Given the description of an element on the screen output the (x, y) to click on. 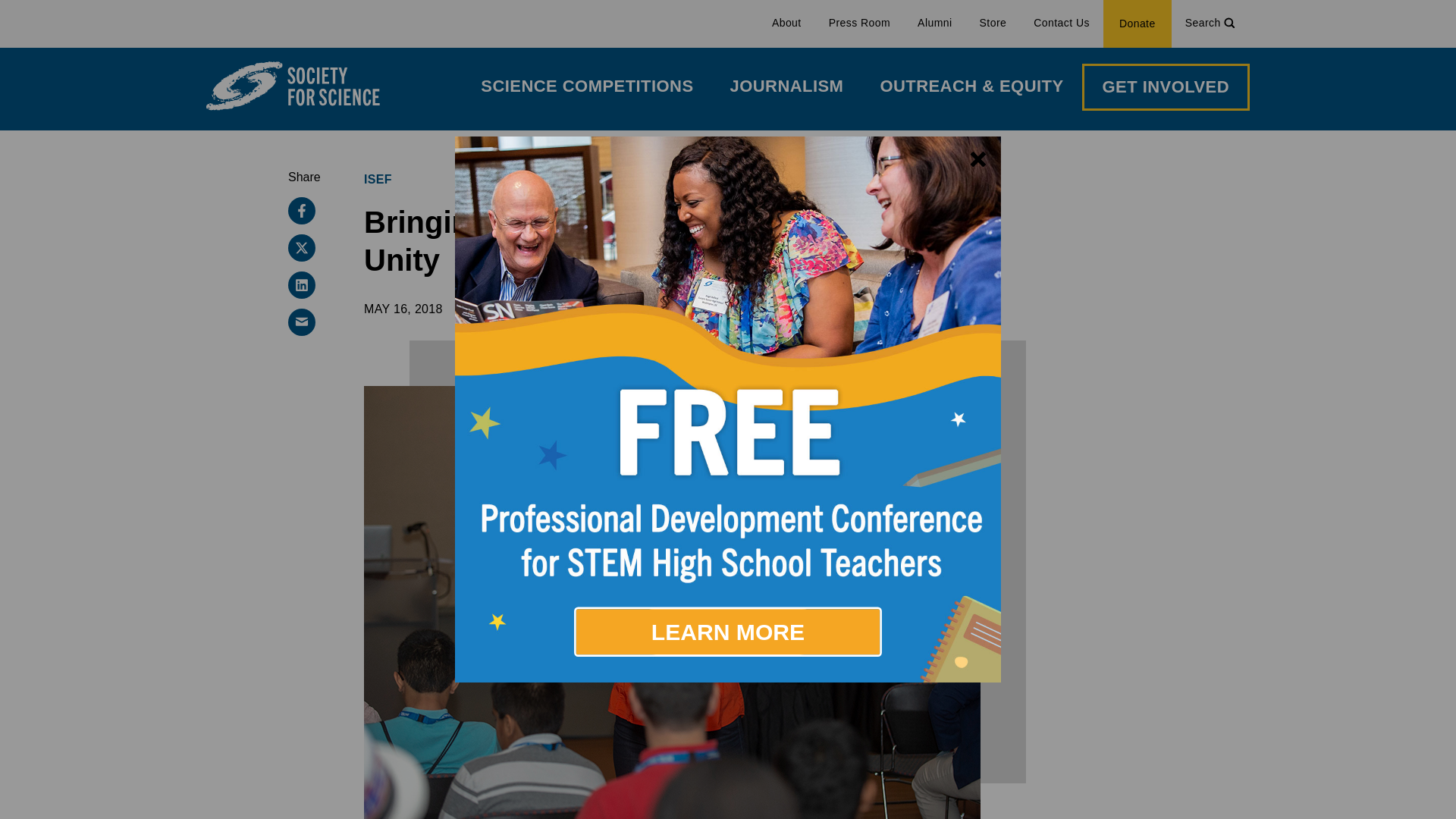
SCIENCE COMPETITIONS (587, 87)
Skip to content (8, 8)
Press Room (859, 23)
JOURNALISM (786, 87)
Alumni (934, 23)
About (786, 23)
GET INVOLVED (1165, 86)
